Given the description of an element on the screen output the (x, y) to click on. 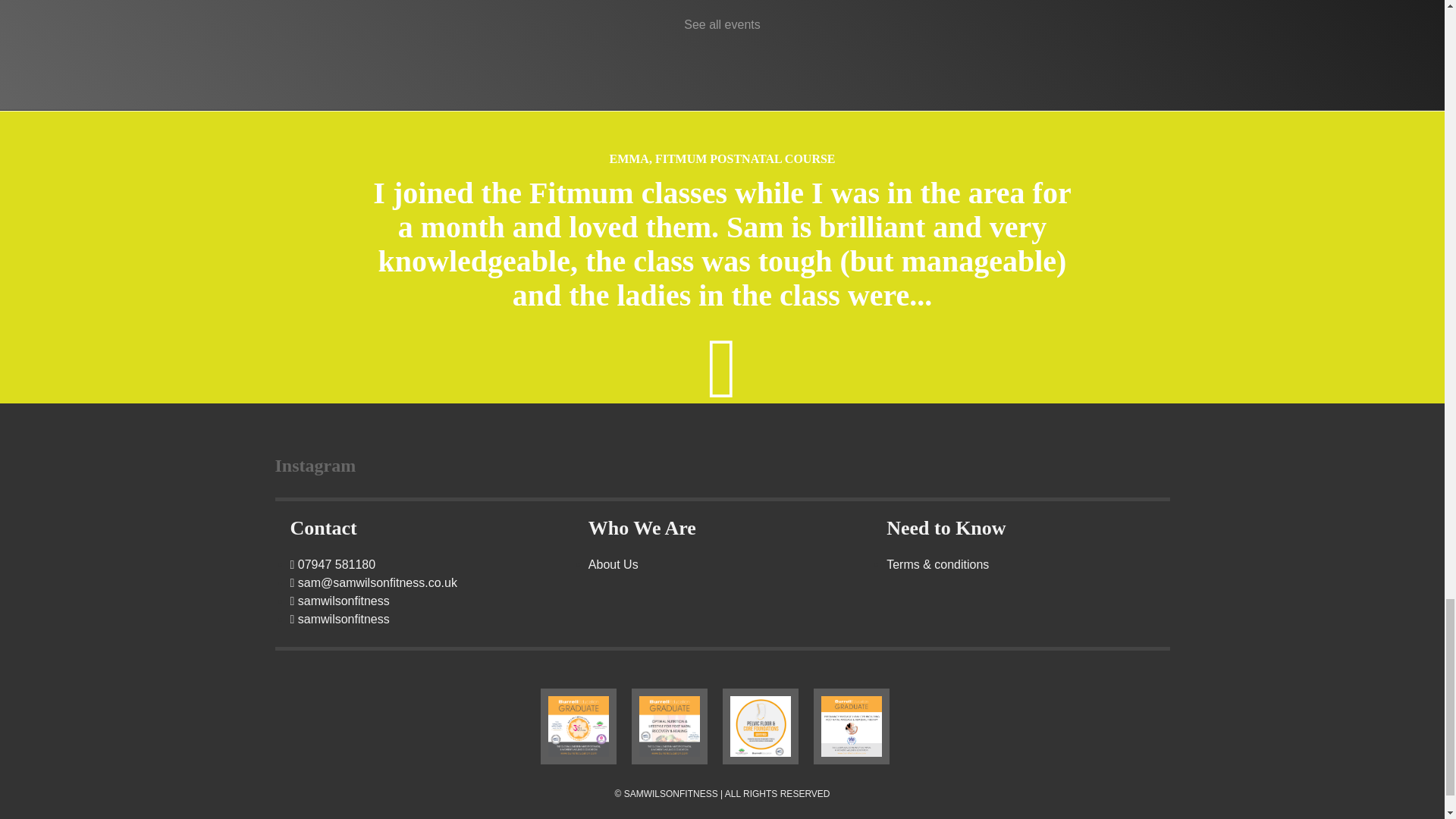
samwilsonfitness (338, 600)
samwilsonfitness (338, 618)
See all events (722, 24)
07947 581180 (332, 563)
About Us (613, 563)
